Given the description of an element on the screen output the (x, y) to click on. 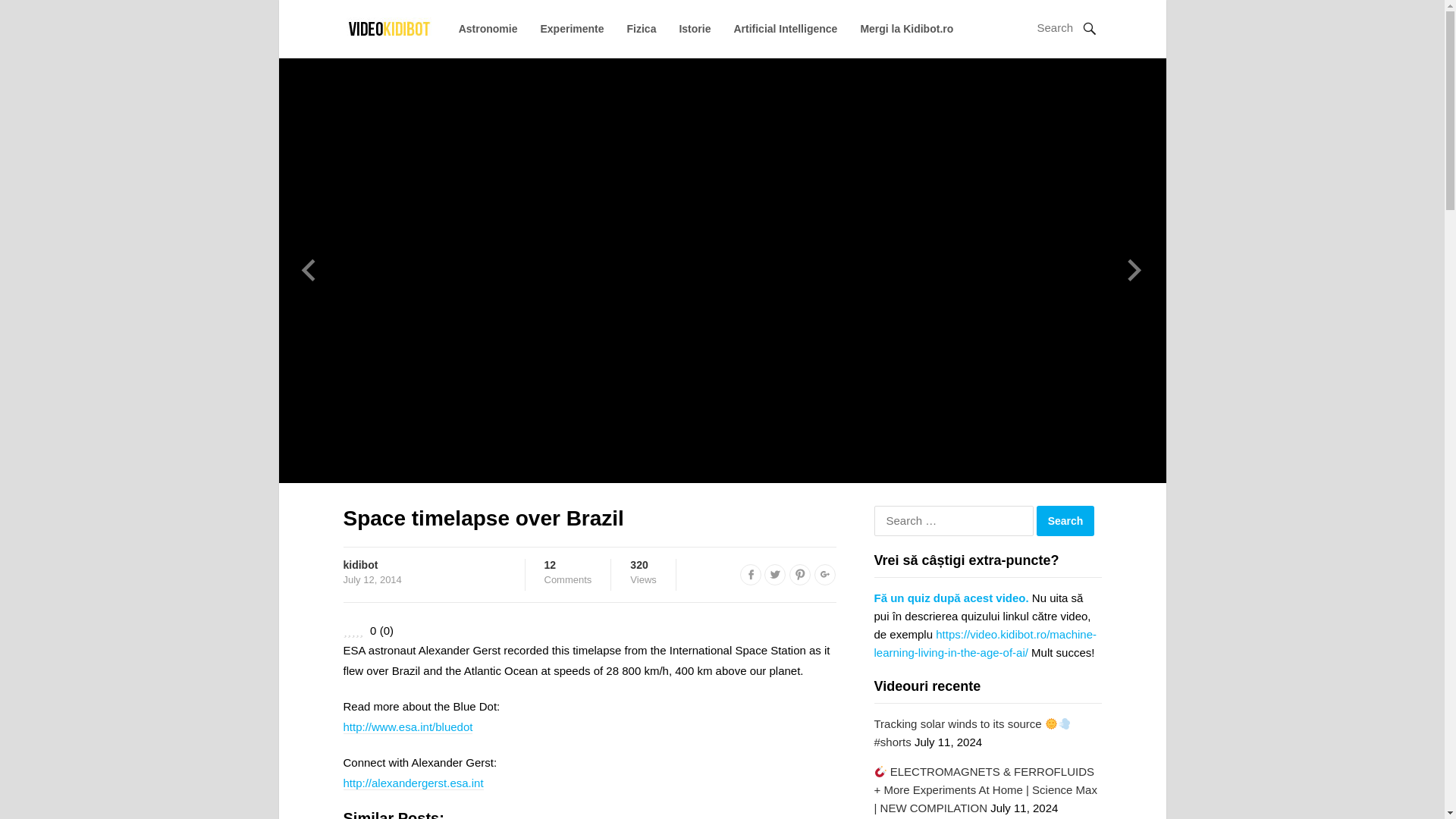
Posts by kidibot (359, 564)
Mergi la Kidibot.ro (906, 28)
Experimente (572, 28)
Share on Pinterest (799, 574)
Share on Facebook (568, 572)
Share on Twitter (750, 574)
Search (775, 574)
Search (1065, 521)
Astronomie (1065, 521)
kidibot (488, 28)
Artificial Intelligence (359, 564)
